Given the description of an element on the screen output the (x, y) to click on. 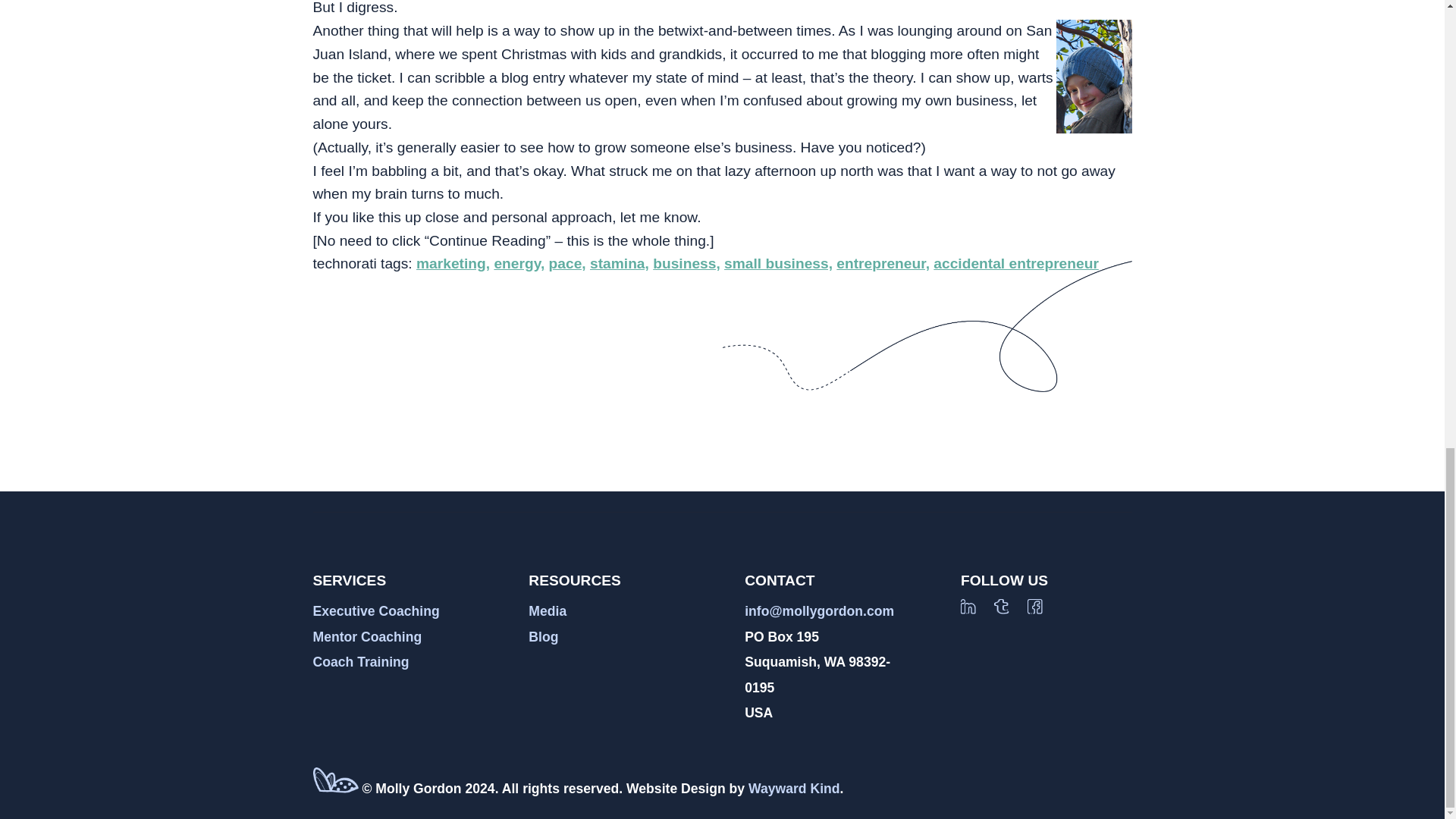
Media (547, 611)
Executive Coaching (376, 611)
Wayward Kind (794, 788)
Blog (542, 636)
Coach Training (361, 661)
dark-line (926, 326)
Mentor Coaching (367, 636)
